Given the description of an element on the screen output the (x, y) to click on. 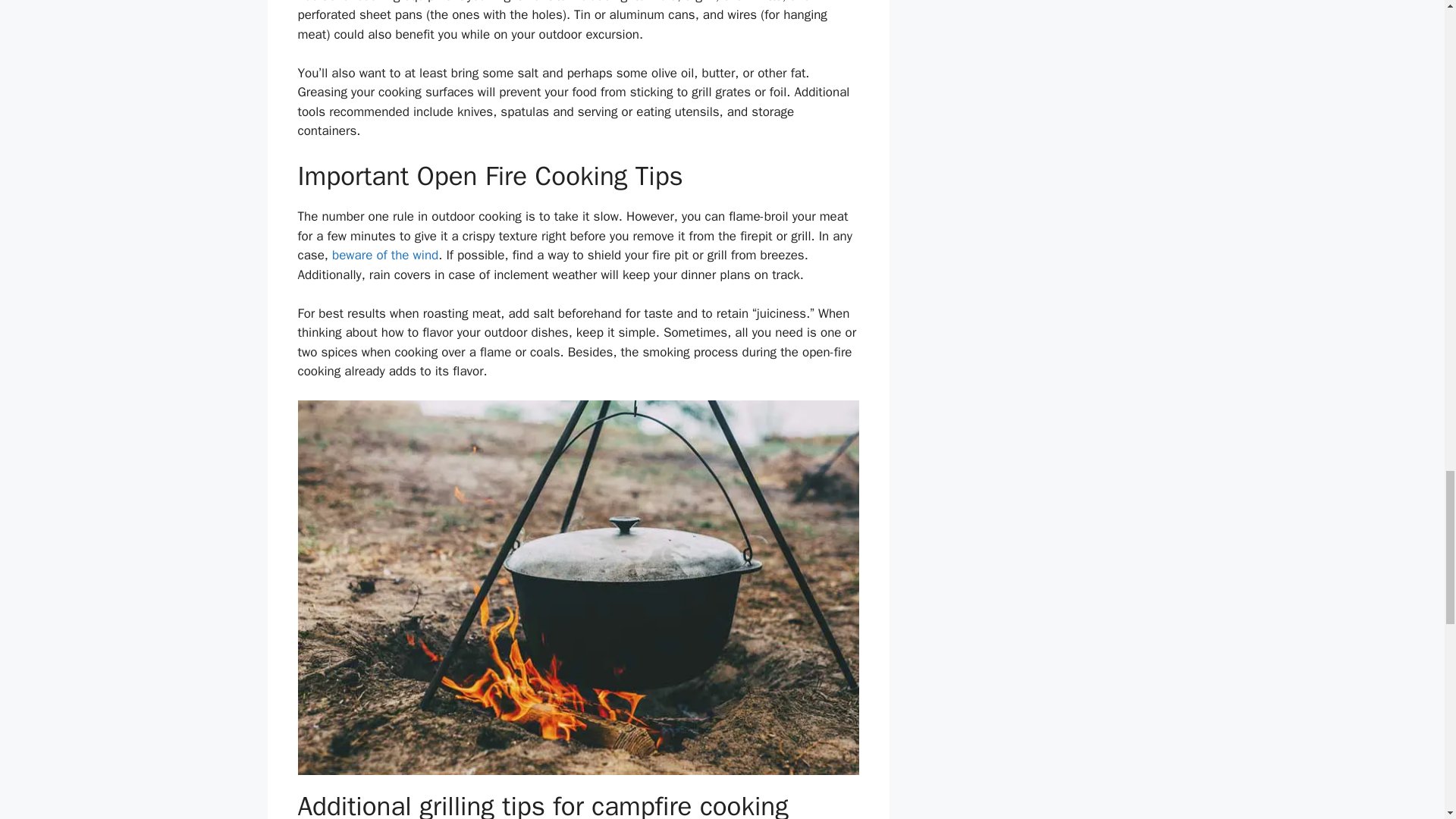
beware of the wind (384, 254)
